Given the description of an element on the screen output the (x, y) to click on. 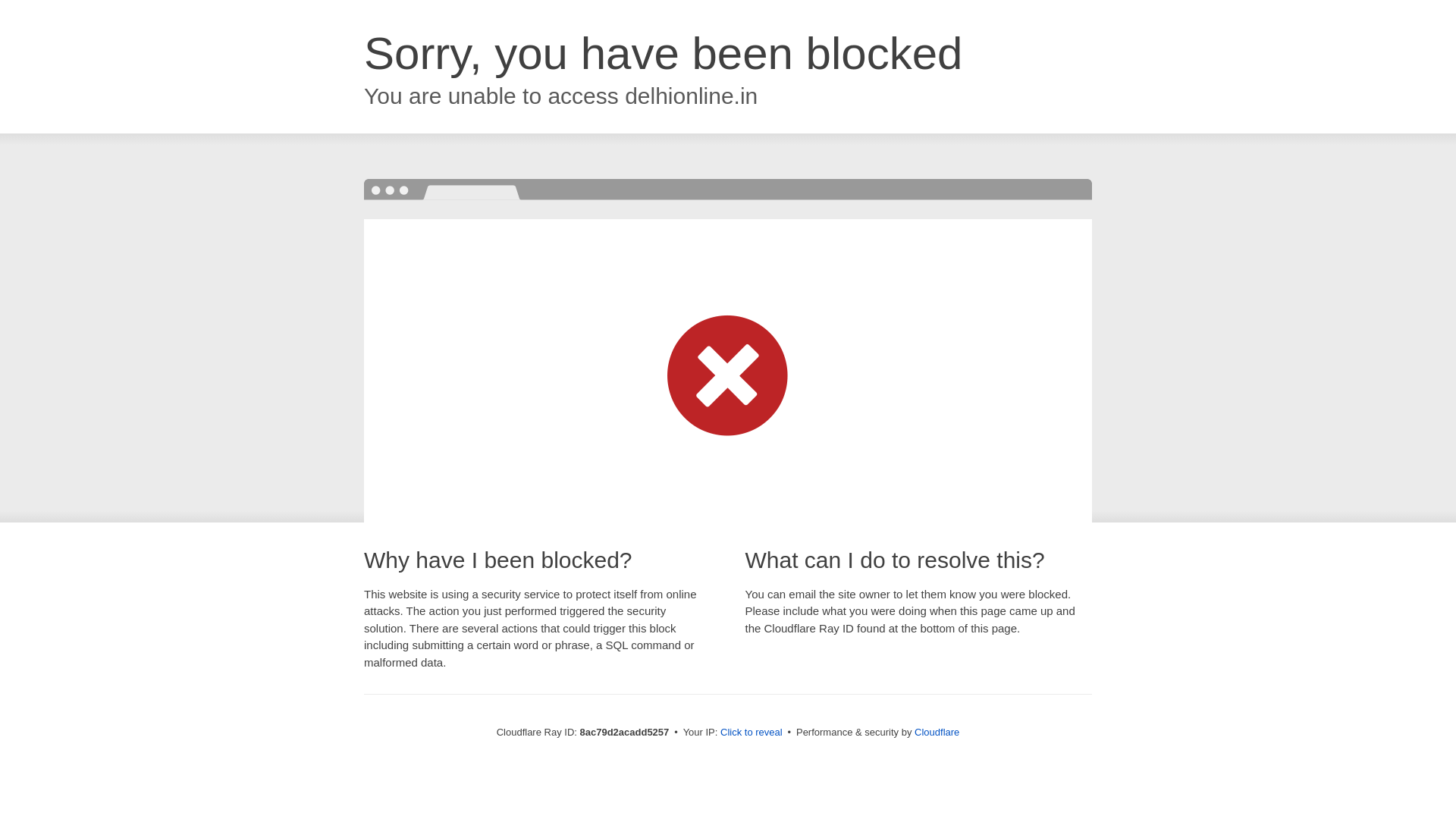
Cloudflare (936, 731)
Click to reveal (751, 732)
